Given the description of an element on the screen output the (x, y) to click on. 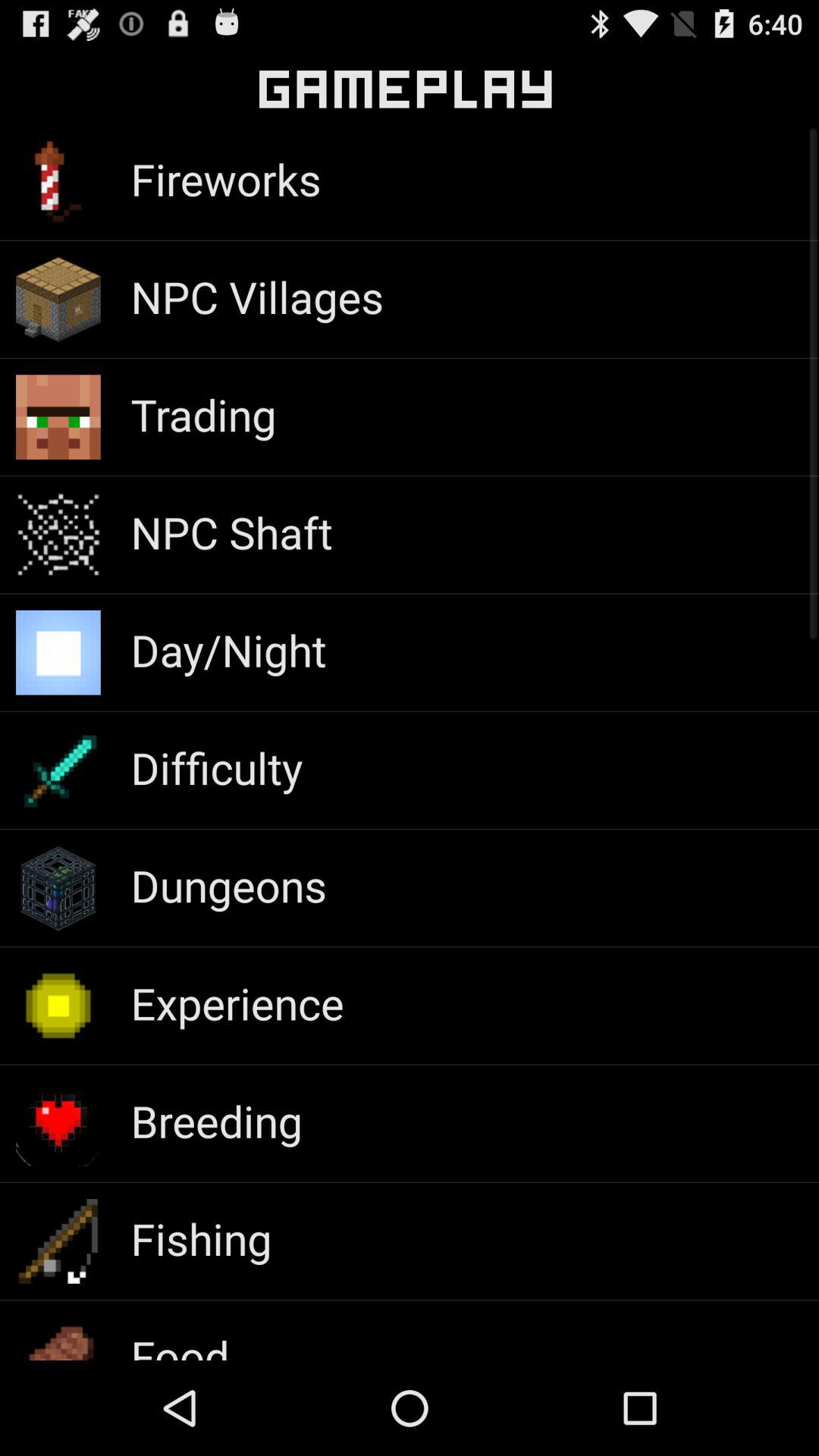
open the app below gameplay icon (225, 178)
